Given the description of an element on the screen output the (x, y) to click on. 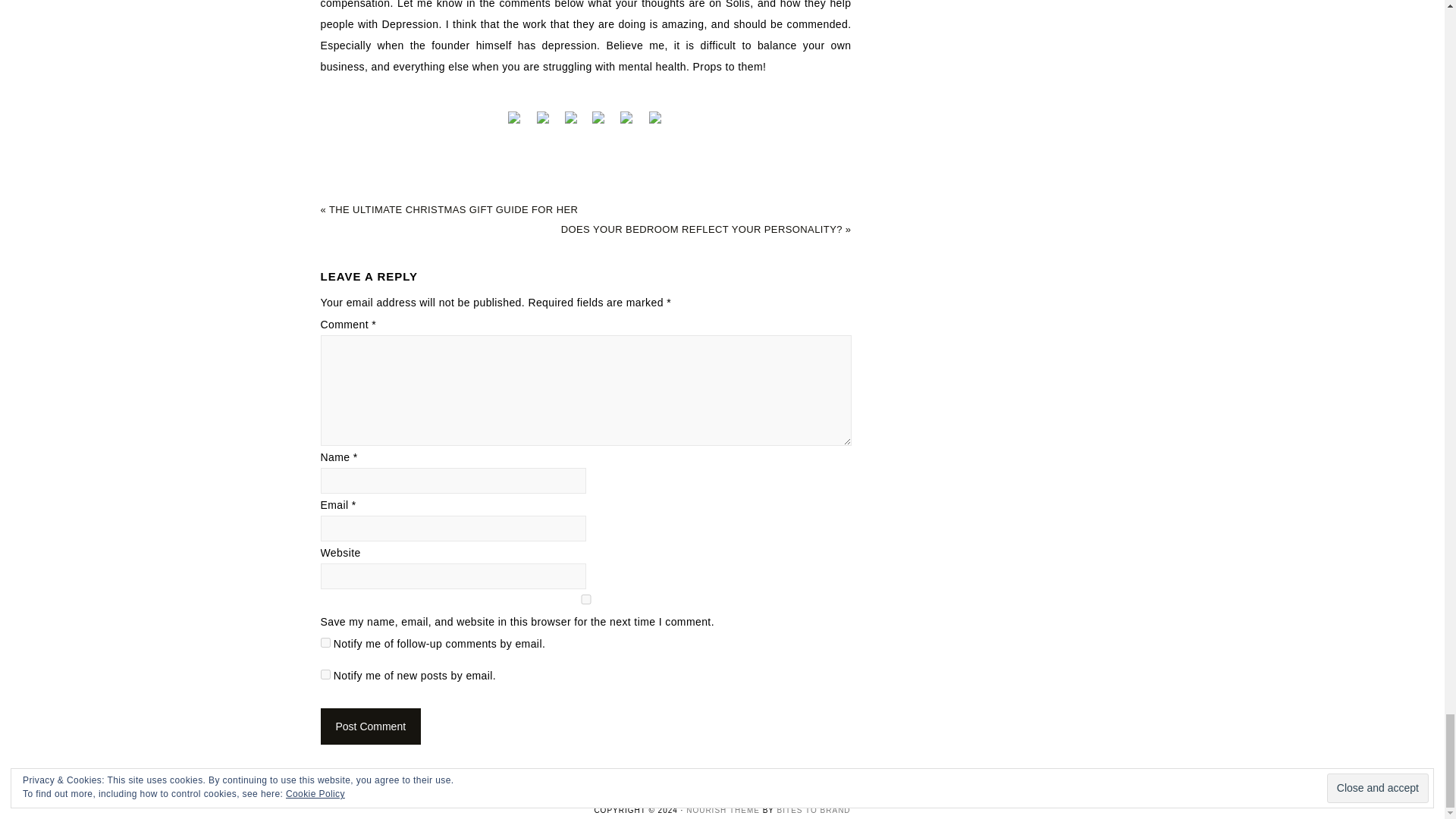
Post Comment (370, 726)
Share on Linkedin (627, 117)
Share on Reddit (571, 123)
Share On Facebook (515, 123)
Share by email (655, 117)
Share on Linkedin (627, 123)
Share on Twitter (544, 117)
NOURISH THEME (722, 809)
Share by email (655, 123)
Pin it with Pinterest (599, 123)
Share on Twitter (543, 123)
Post Comment (370, 726)
Share on Reddit (571, 117)
Share On Facebook (515, 117)
subscribe (325, 642)
